Given the description of an element on the screen output the (x, y) to click on. 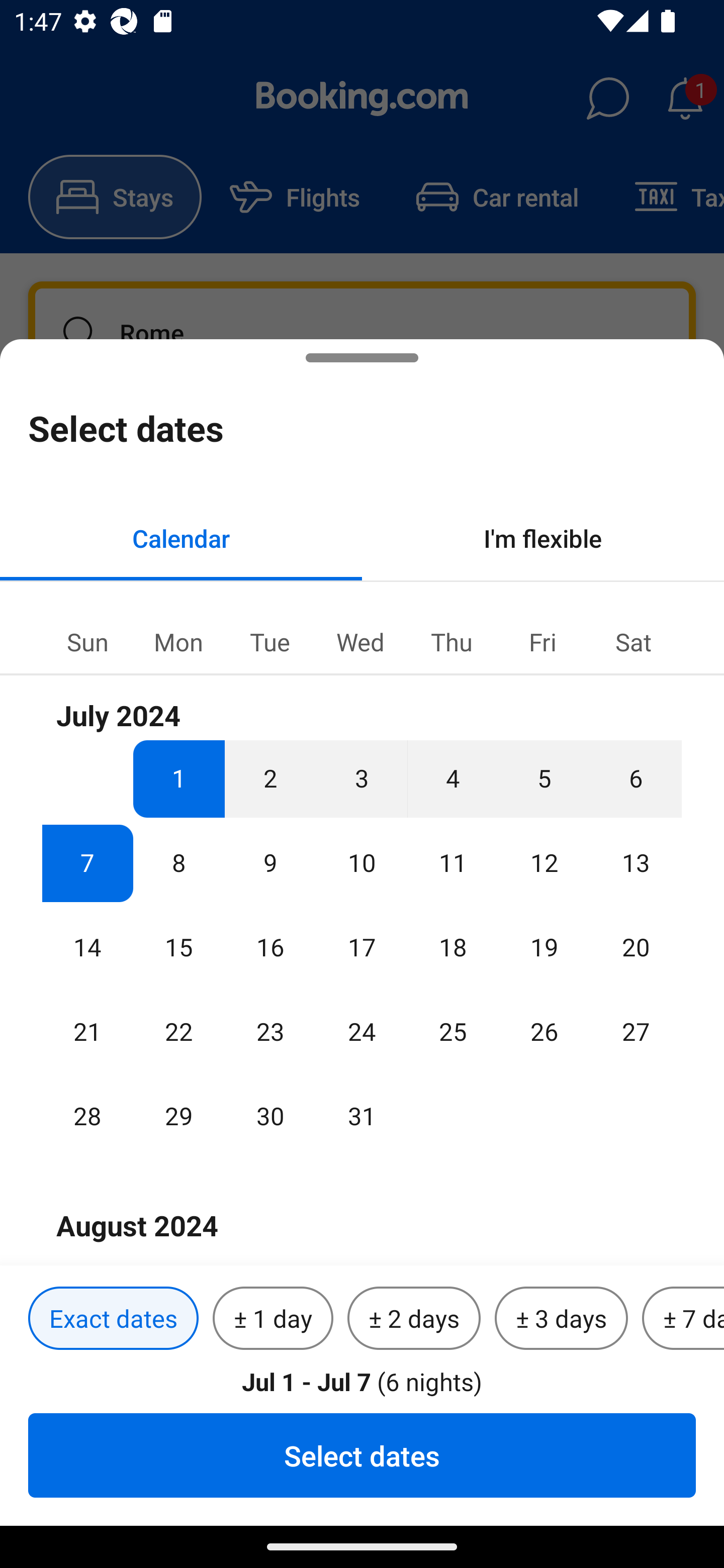
I'm flexible (543, 537)
Exact dates (113, 1318)
± 1 day (272, 1318)
± 2 days (413, 1318)
± 3 days (560, 1318)
± 7 days (683, 1318)
Select dates (361, 1454)
